Given the description of an element on the screen output the (x, y) to click on. 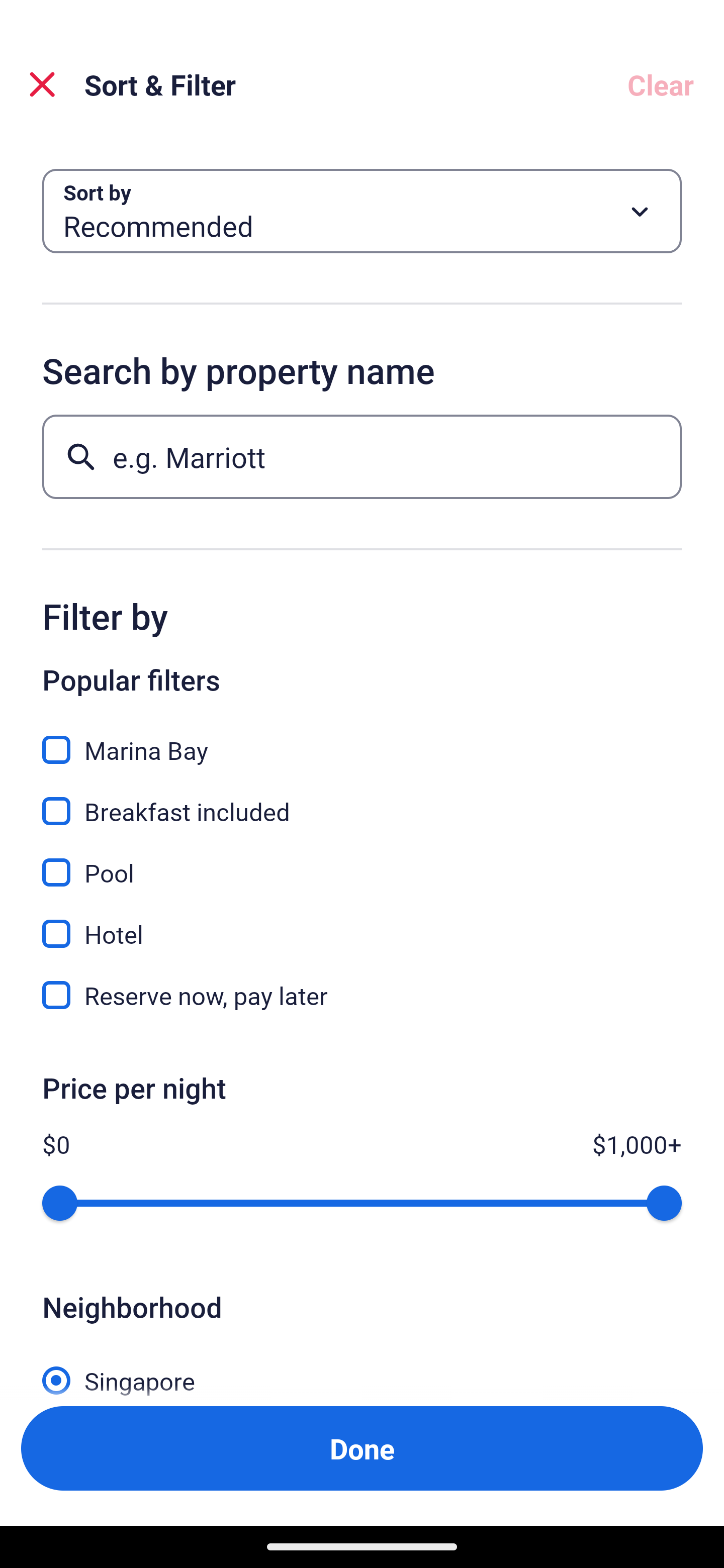
Close Sort and Filter (42, 84)
Clear (660, 84)
Sort by Button Recommended (361, 211)
e.g. Marriott Button (361, 455)
Marina Bay, Marina Bay (361, 738)
Breakfast included, Breakfast included (361, 800)
Pool, Pool (361, 861)
Hotel, Hotel (361, 922)
Reserve now, pay later, Reserve now, pay later (361, 995)
Apply and close Sort and Filter Done (361, 1448)
